Given the description of an element on the screen output the (x, y) to click on. 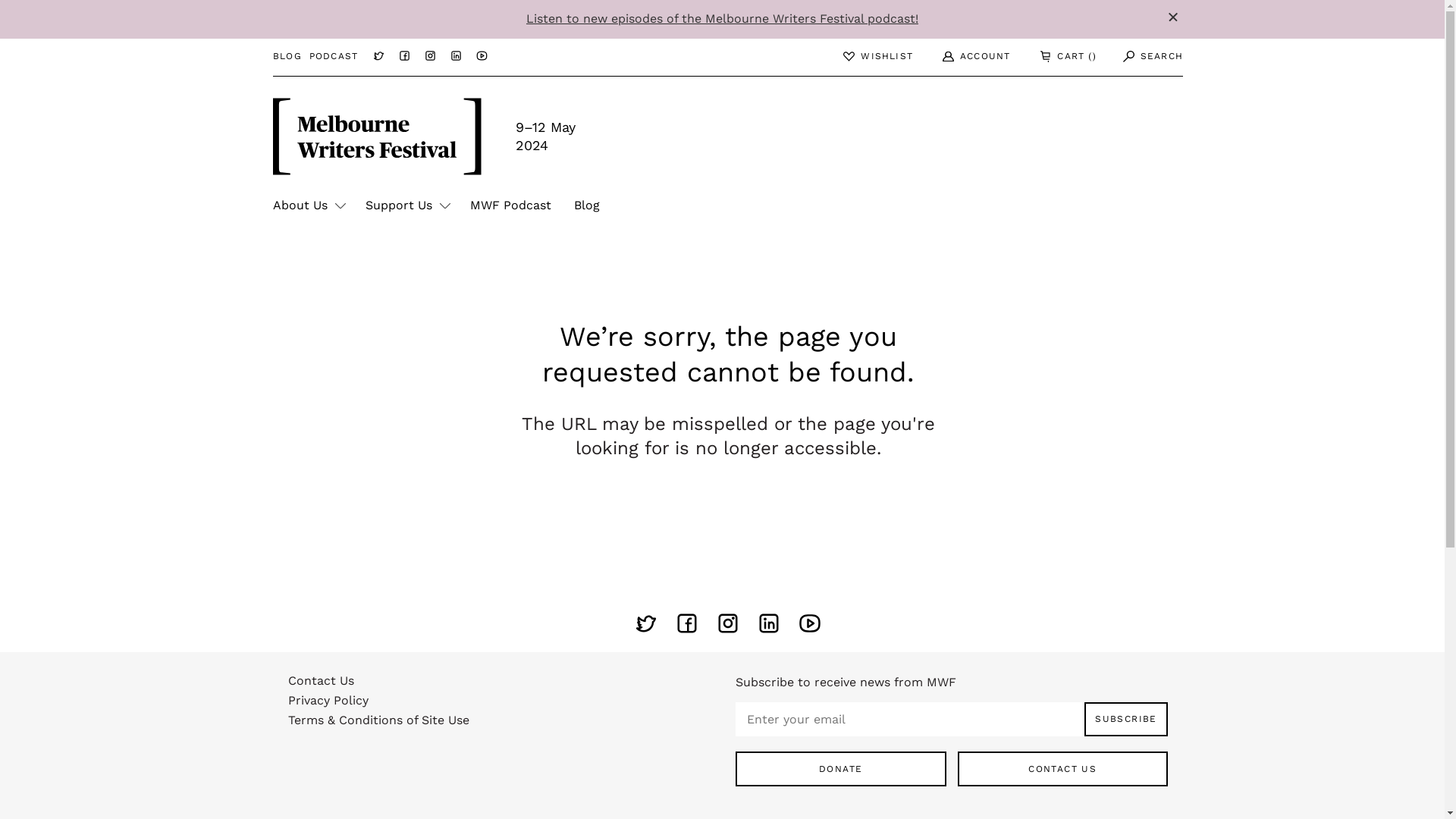
Contact Us Element type: text (504, 684)
WISHLIST Element type: text (868, 56)
About Us Element type: text (307, 205)
Search Element type: text (1145, 57)
BLOG Element type: text (287, 56)
Blog Element type: text (586, 205)
CART () Element type: text (1057, 56)
MWF Podcast Element type: text (510, 205)
ACCOUNT Element type: text (966, 56)
Terms & Conditions of Site Use Element type: text (504, 724)
Support Us Element type: text (406, 205)
CONTACT US Element type: text (1062, 768)
PODCAST Element type: text (333, 56)
DONATE Element type: text (840, 768)
Privacy Policy Element type: text (504, 704)
Subscribe Element type: text (1125, 719)
